Given the description of an element on the screen output the (x, y) to click on. 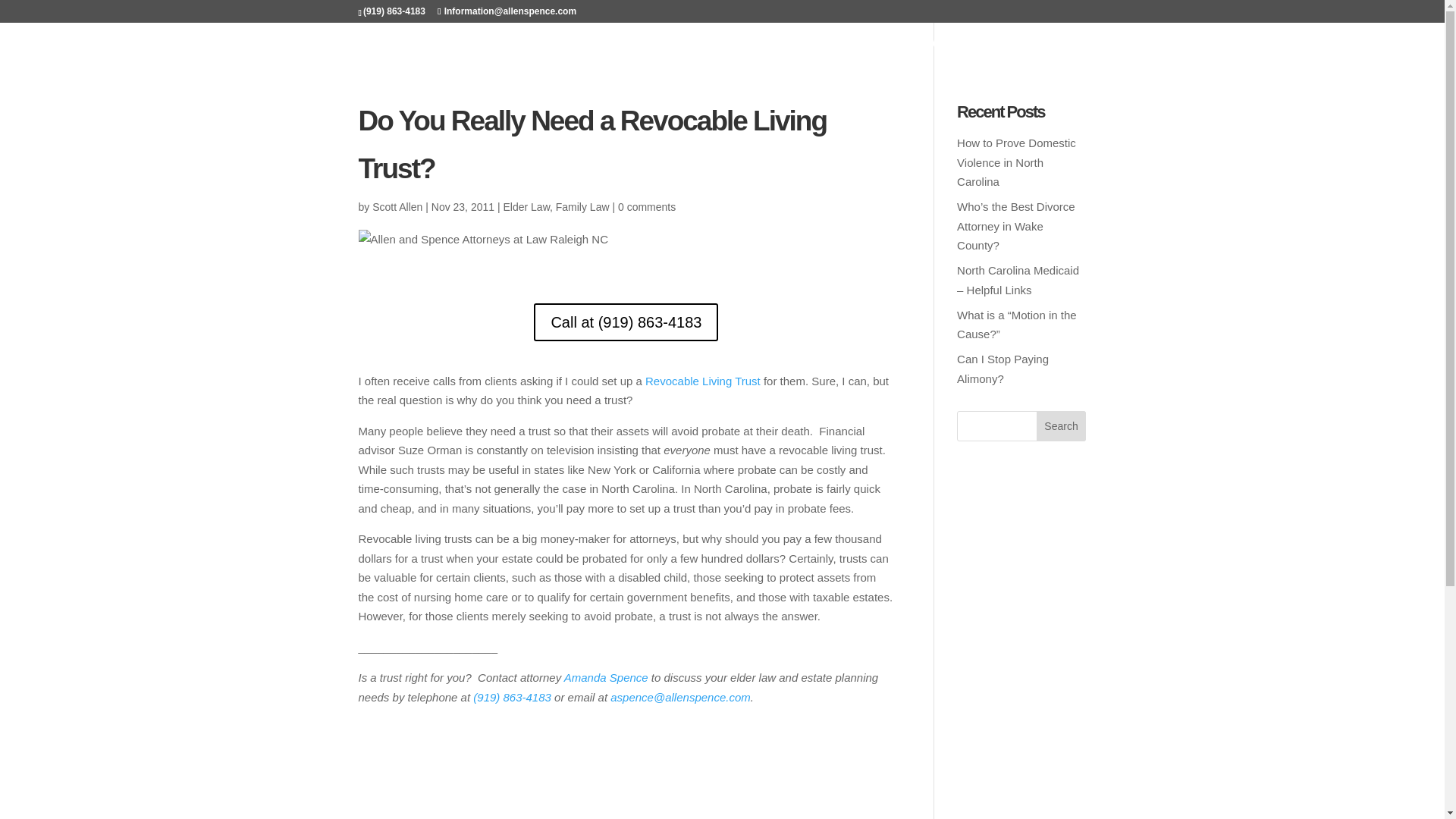
Elder Law (525, 206)
Posts by Scott Allen (397, 206)
Elder Law (821, 44)
Contact Us (1041, 44)
Scott Allen (397, 206)
Family Law (929, 44)
Search (1061, 426)
Home (378, 44)
How to Prove Domestic Violence in North Carolina (1015, 162)
Can I Stop Paying Alimony? (1002, 368)
Family Law (583, 206)
Search (1061, 426)
0 comments (646, 206)
Areas of Practice (494, 44)
About Us (631, 44)
